Given the description of an element on the screen output the (x, y) to click on. 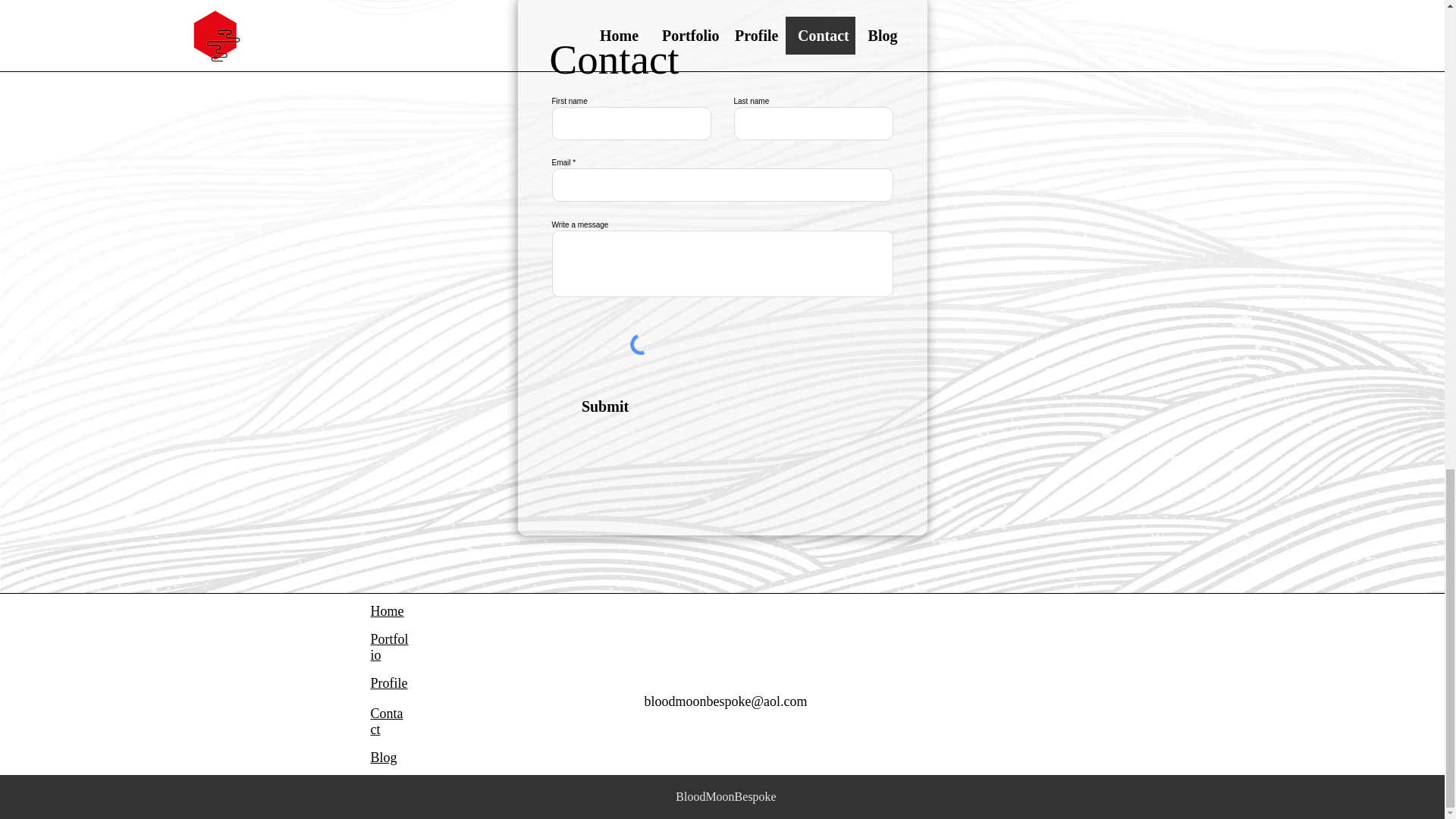
Contact (386, 721)
Profile (388, 683)
Blog (382, 757)
Portfolio (388, 646)
Home (386, 611)
Submit (604, 406)
